Given the description of an element on the screen output the (x, y) to click on. 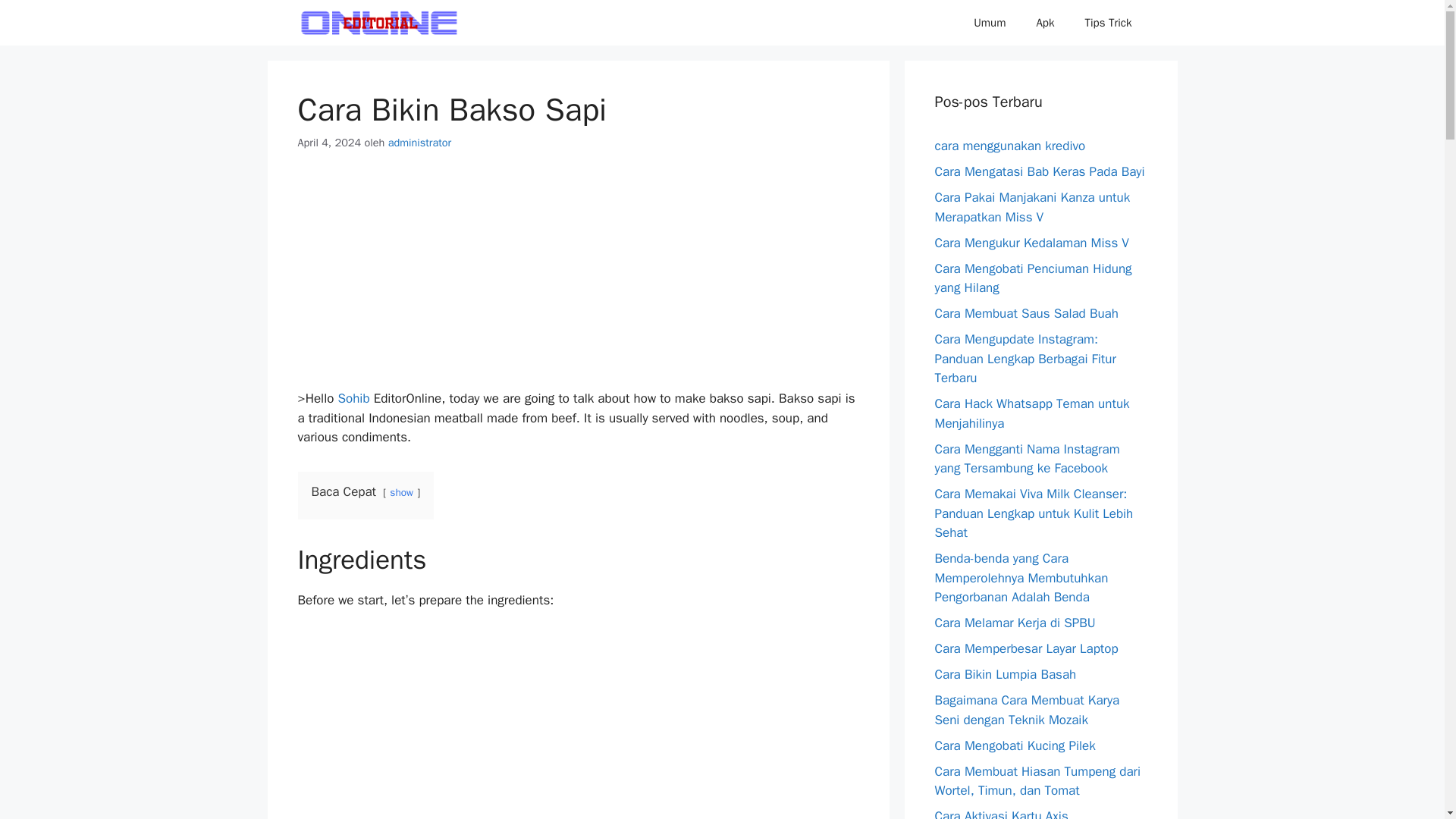
Apk (1044, 22)
Sohib (353, 398)
Tips Trick (1107, 22)
Advertisement (578, 724)
Editor Online (378, 22)
Advertisement (578, 282)
show (401, 492)
administrator (419, 142)
Lihat semua tulisan oleh administrator (419, 142)
Umum (989, 22)
Sohib (353, 398)
